Given the description of an element on the screen output the (x, y) to click on. 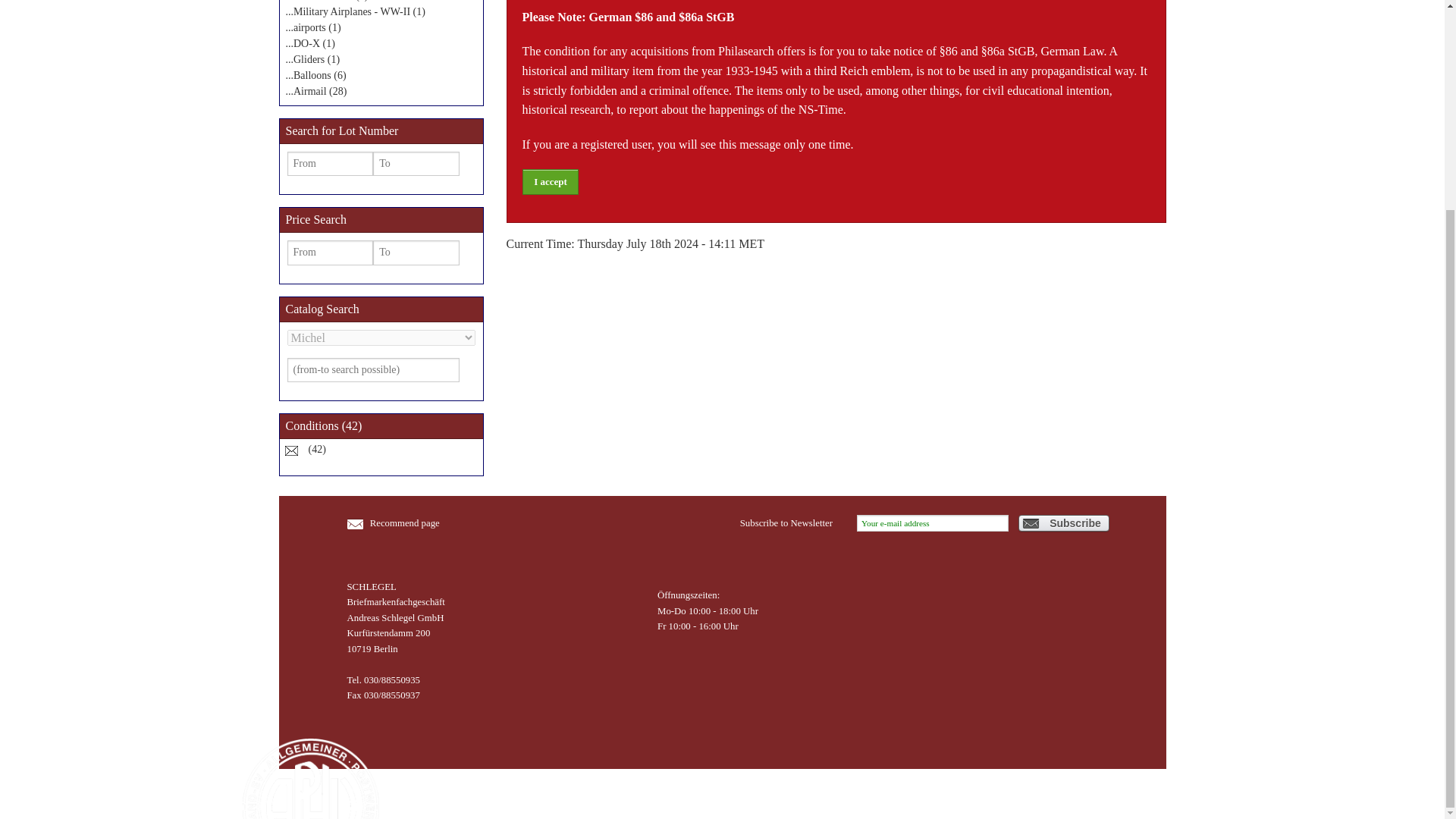
Online-Streitschlichtung (588, 793)
Versandbedingungen (693, 793)
Cover (291, 449)
I accept (549, 181)
Impressum (478, 793)
Recommend page (363, 522)
Subscribe (1062, 523)
I accept (549, 181)
AGB (519, 793)
